Given the description of an element on the screen output the (x, y) to click on. 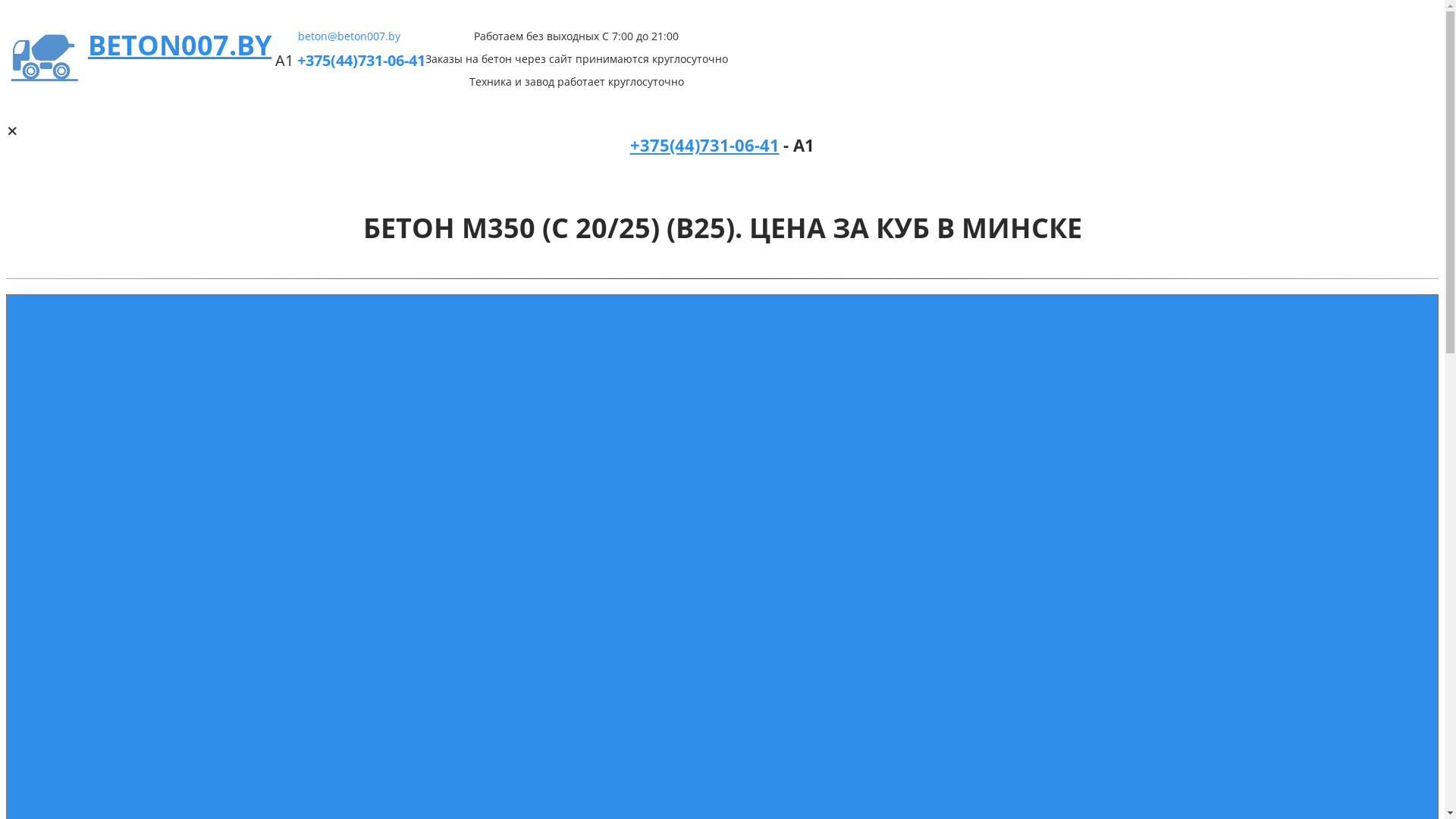
+375(44)731-06-41 Element type: text (704, 147)
beton@beton007.by Element type: text (349, 35)
BETON007.BY Element type: text (179, 44)
+375(44)731-06-41 Element type: text (361, 60)
